Given the description of an element on the screen output the (x, y) to click on. 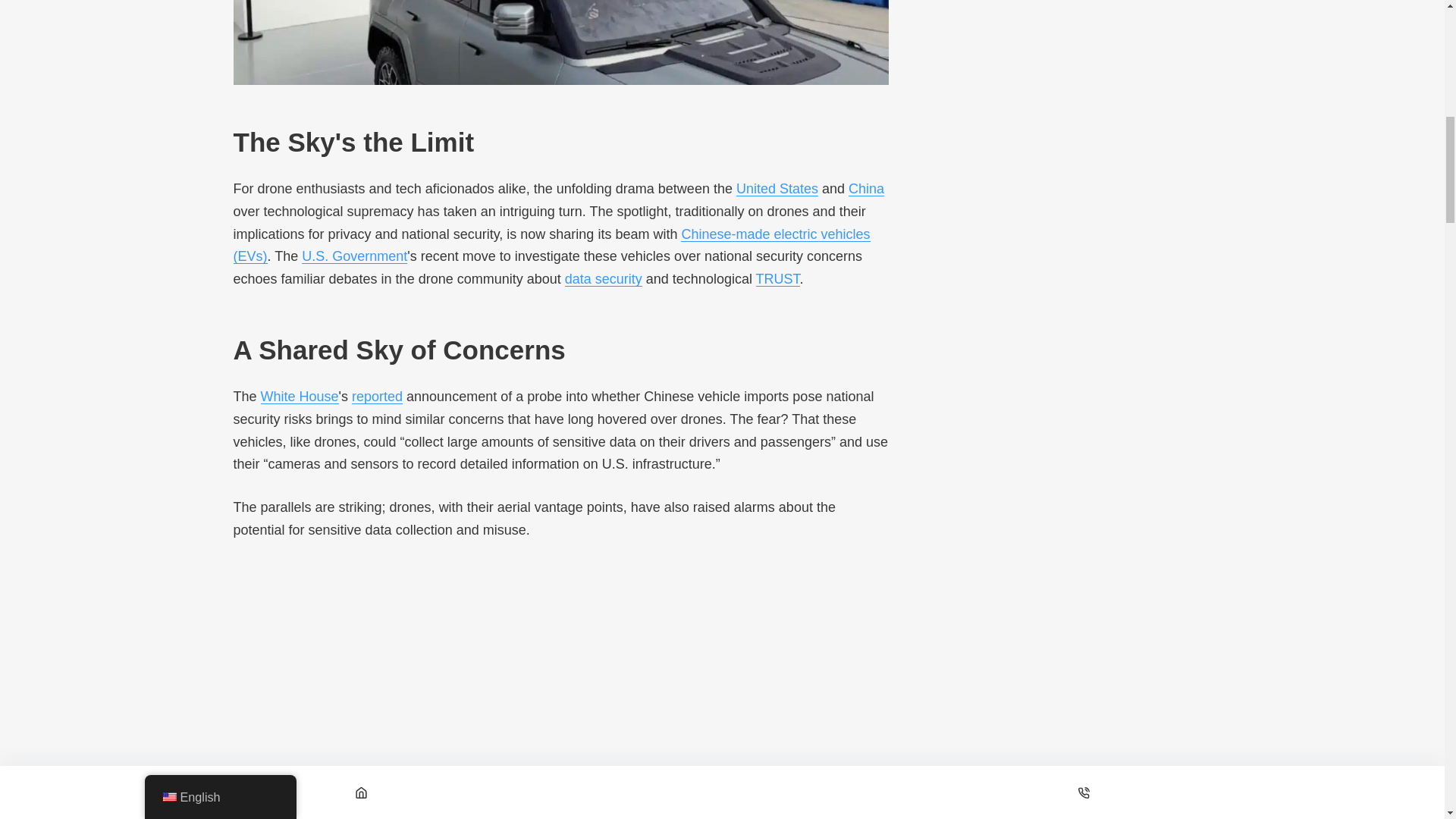
Posts in the category TRUST (777, 278)
Posts in the category White House (299, 396)
Posts in the category United States (777, 188)
Posts in the category China (865, 188)
Posts in the category U.S. Government (354, 255)
